Given the description of an element on the screen output the (x, y) to click on. 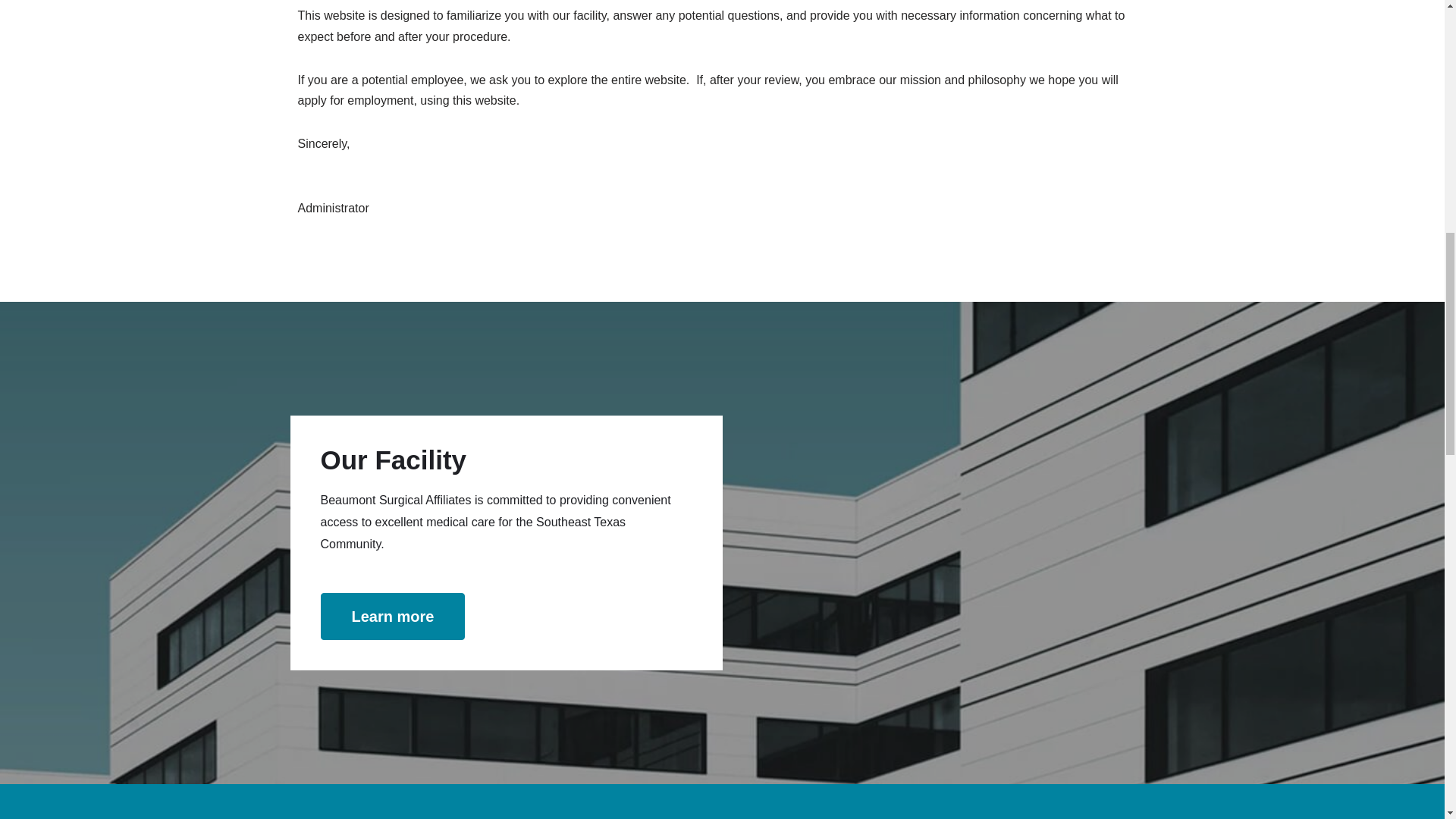
Learn more (392, 615)
